Given the description of an element on the screen output the (x, y) to click on. 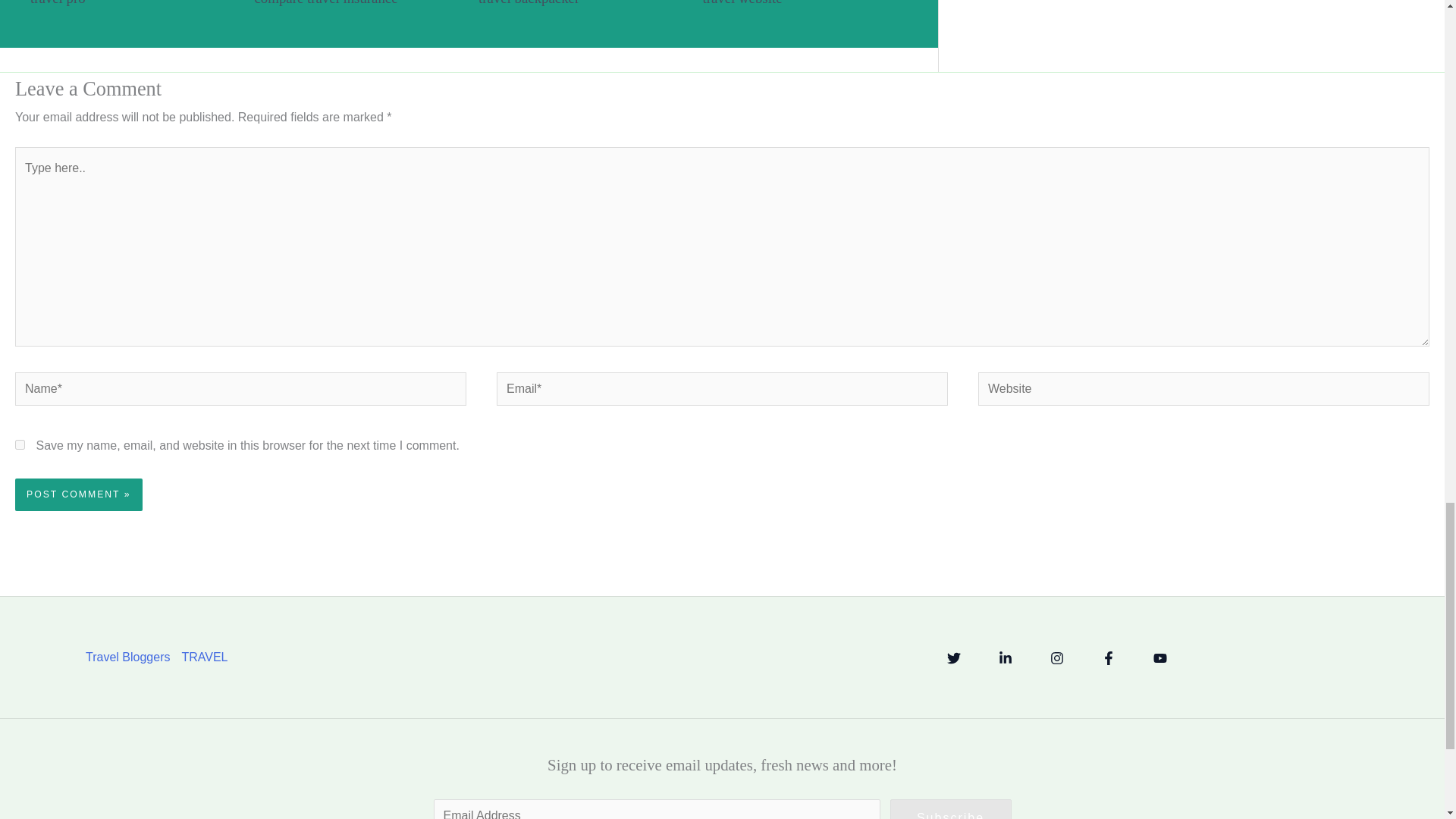
travel website (741, 2)
travel pro (57, 2)
compare travel insurance (325, 2)
yes (19, 444)
travel backpacker (529, 2)
